Given the description of an element on the screen output the (x, y) to click on. 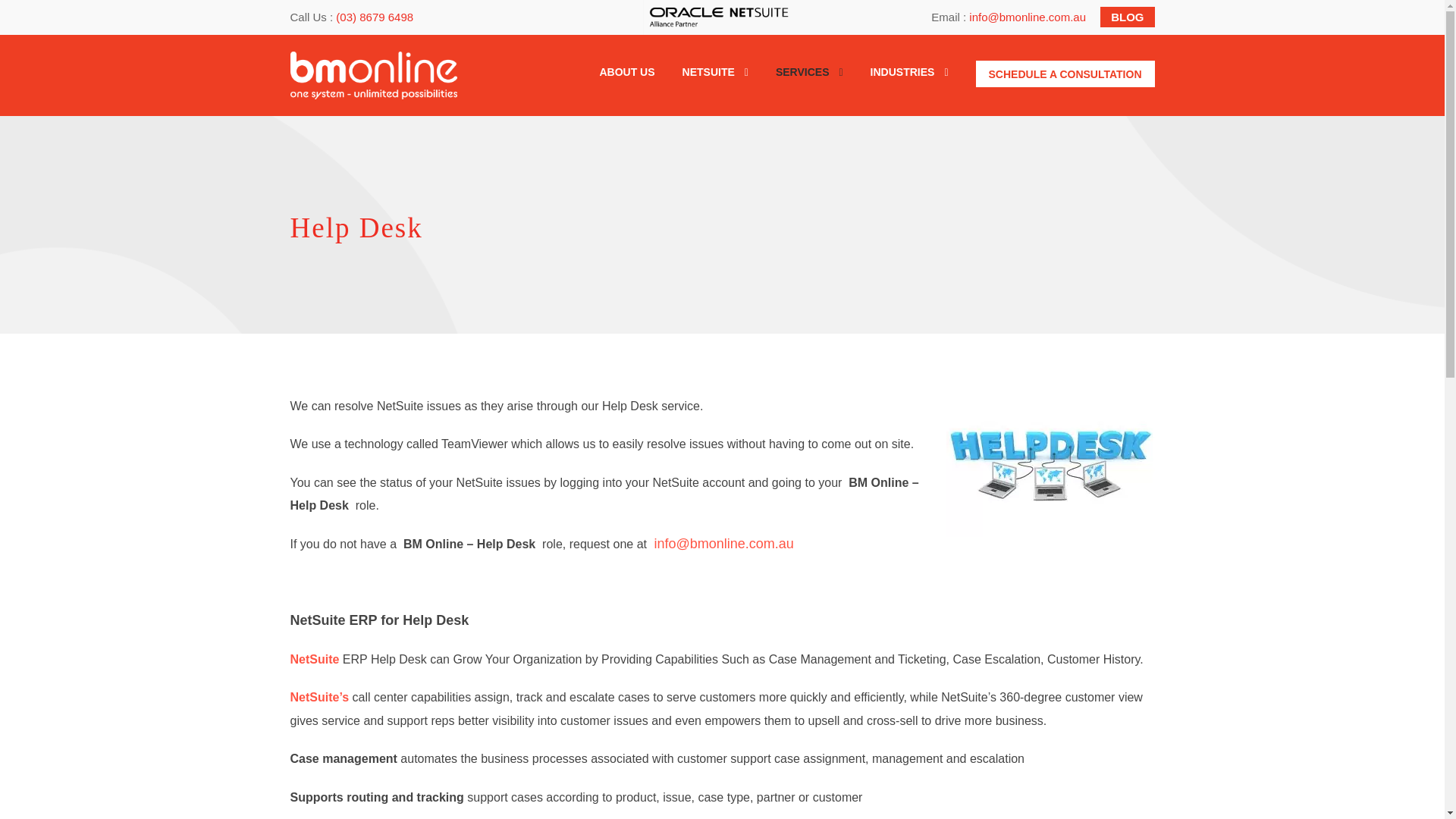
help desk (1050, 466)
BLOG (1126, 16)
NetSuite (319, 697)
NetSuite (314, 658)
NETSUITE (715, 85)
contact-us (1064, 73)
ABOUT US (625, 85)
